Given the description of an element on the screen output the (x, y) to click on. 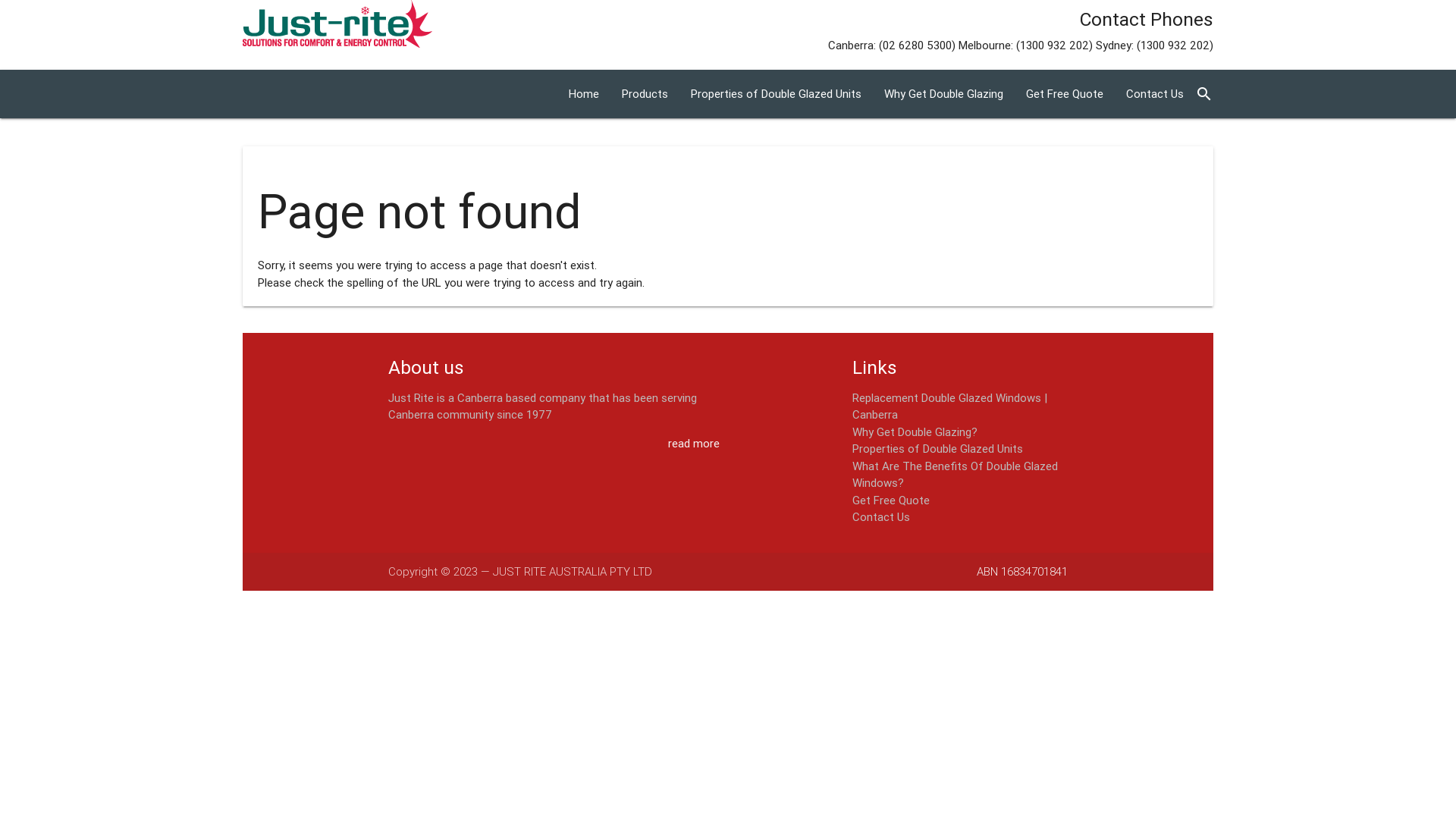
Contact Us Element type: text (1154, 93)
What Are The Benefits Of Double Glazed Windows? Element type: text (954, 473)
Get Free Quote Element type: text (890, 499)
Products Element type: text (644, 93)
read more Element type: text (693, 443)
Why Get Double Glazing? Element type: text (914, 431)
Get Free Quote Element type: text (1064, 93)
ABN 16834701841 Element type: text (1021, 570)
Replacement Double Glazed Windows | Canberra Element type: text (949, 405)
Home Element type: text (583, 93)
Why Get Double Glazing Element type: text (943, 93)
Properties of Double Glazed Units Element type: text (775, 93)
Properties of Double Glazed Units Element type: text (937, 448)
Contact Us Element type: text (881, 516)
